Given the description of an element on the screen output the (x, y) to click on. 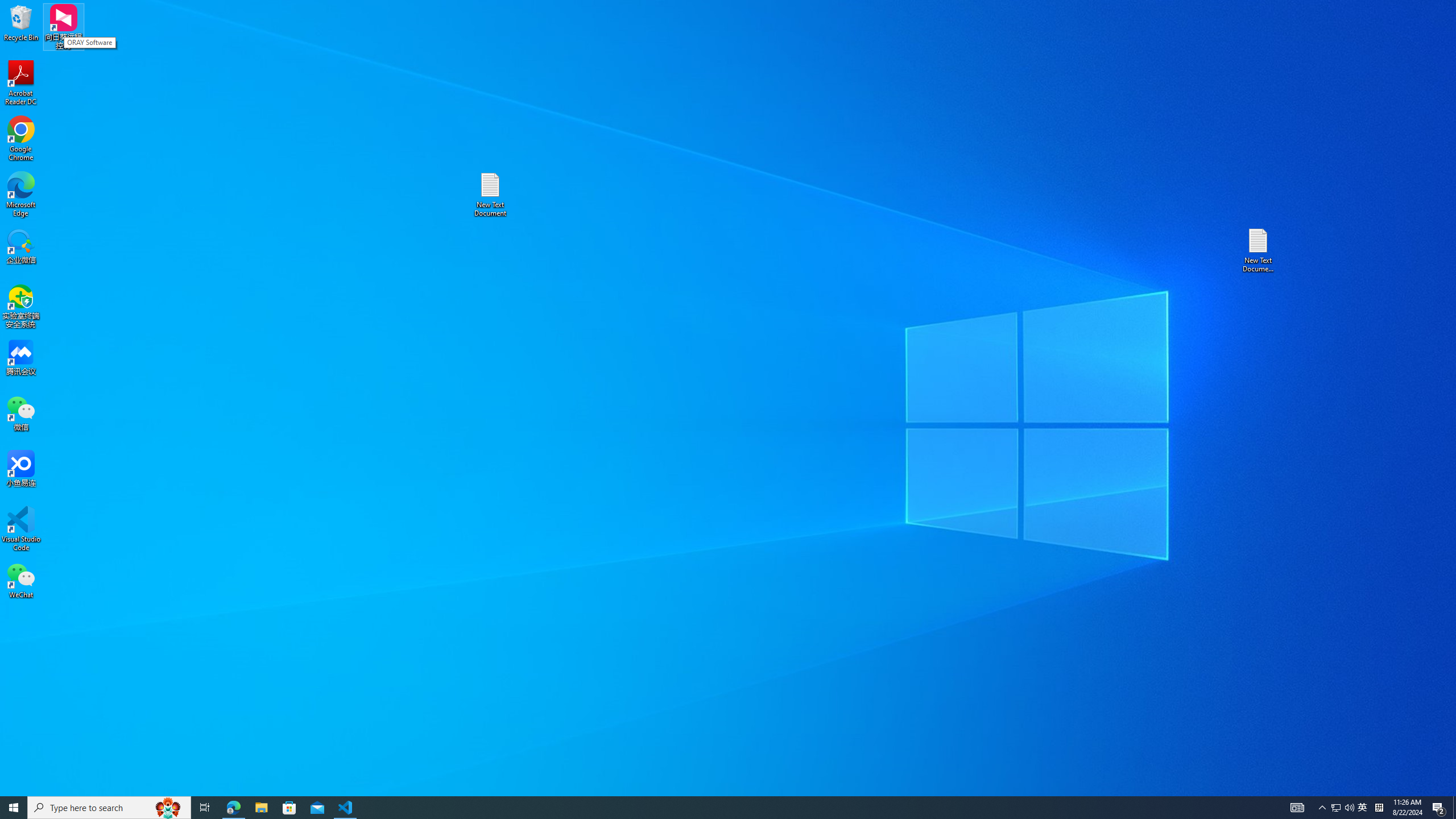
Running applications (707, 807)
AutomationID: 4105 (1297, 807)
New Text Document (489, 194)
WeChat (1335, 807)
Show desktop (21, 580)
Tray Input Indicator - Chinese (Simplified, China) (1454, 807)
Microsoft Store (1378, 807)
User Promoted Notification Area (289, 807)
